Given the description of an element on the screen output the (x, y) to click on. 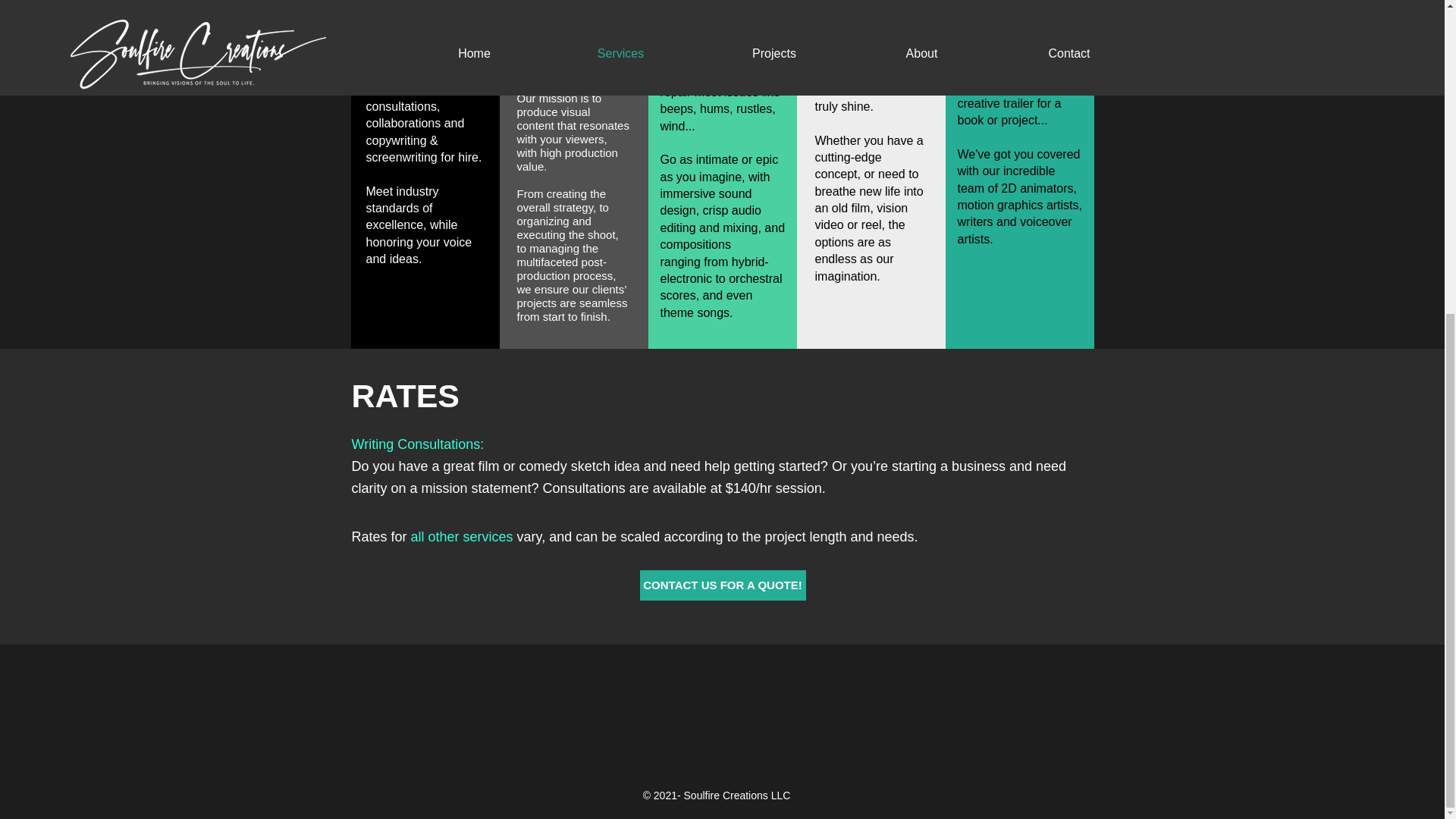
CONTACT US FOR A QUOTE! (723, 585)
